Given the description of an element on the screen output the (x, y) to click on. 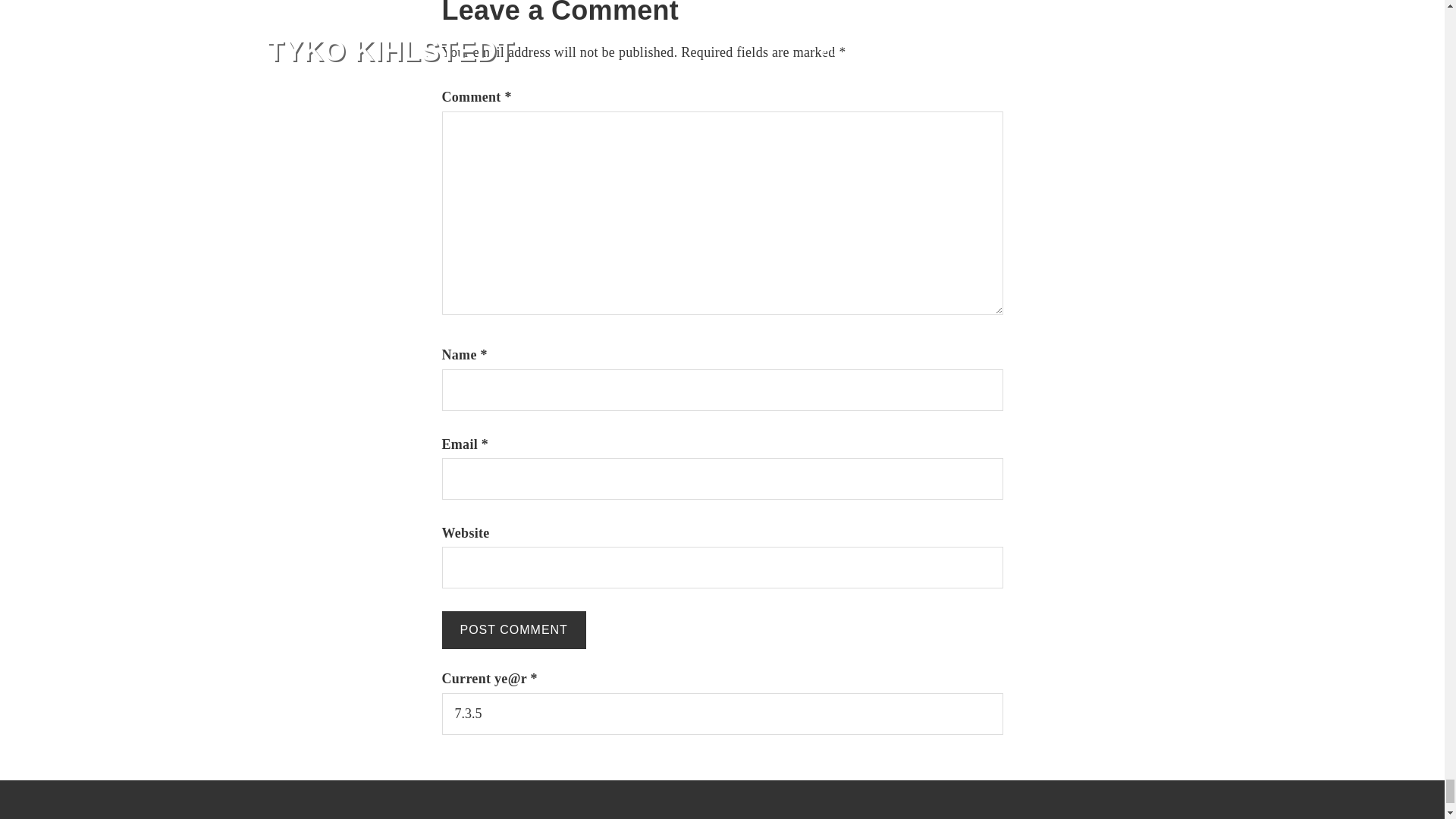
Post Comment (513, 629)
7.3.5 (722, 713)
